Given the description of an element on the screen output the (x, y) to click on. 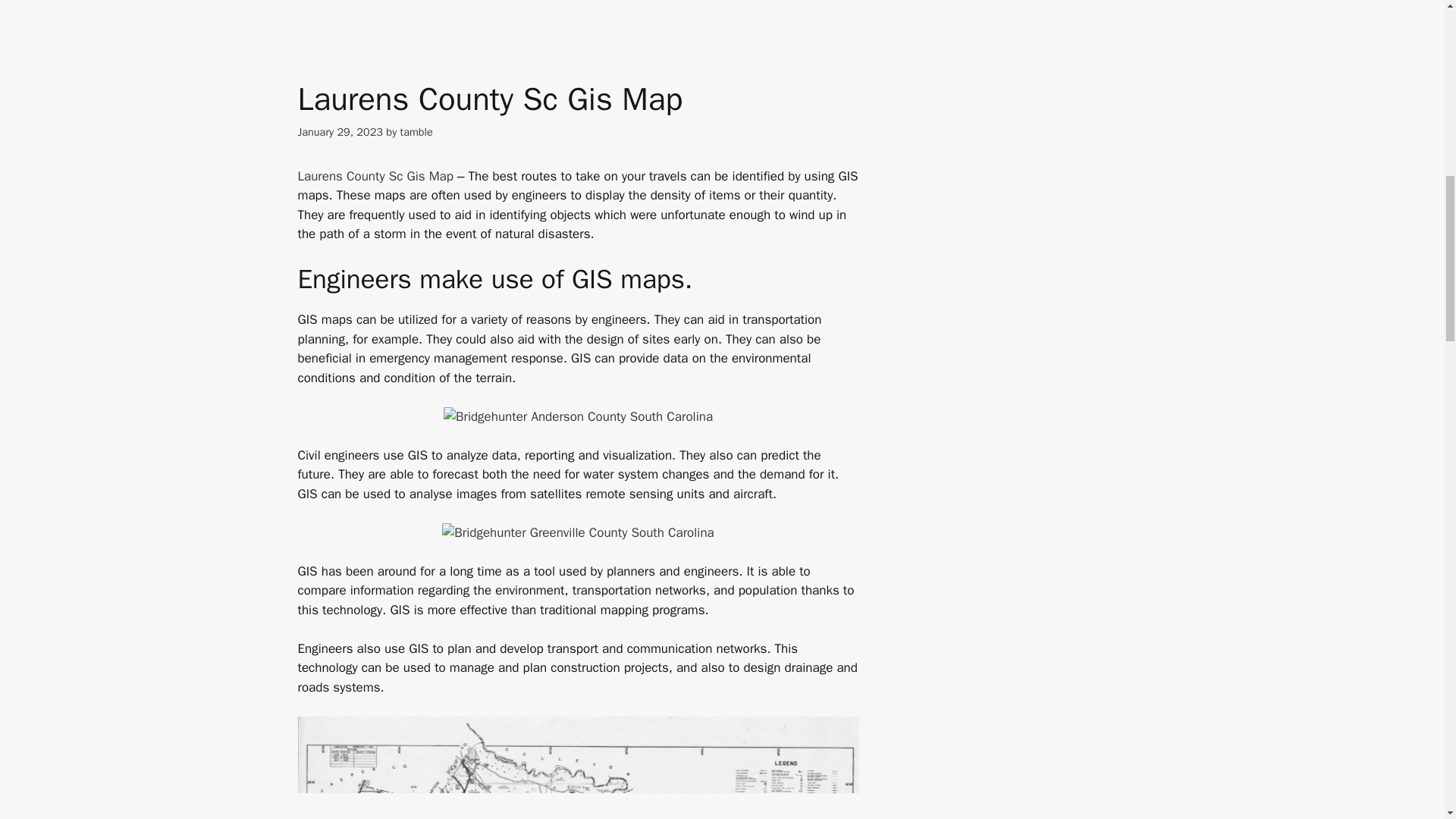
Laurens County Sc Gis Map (374, 176)
View all posts by tamble (416, 131)
tamble (416, 131)
